Given the description of an element on the screen output the (x, y) to click on. 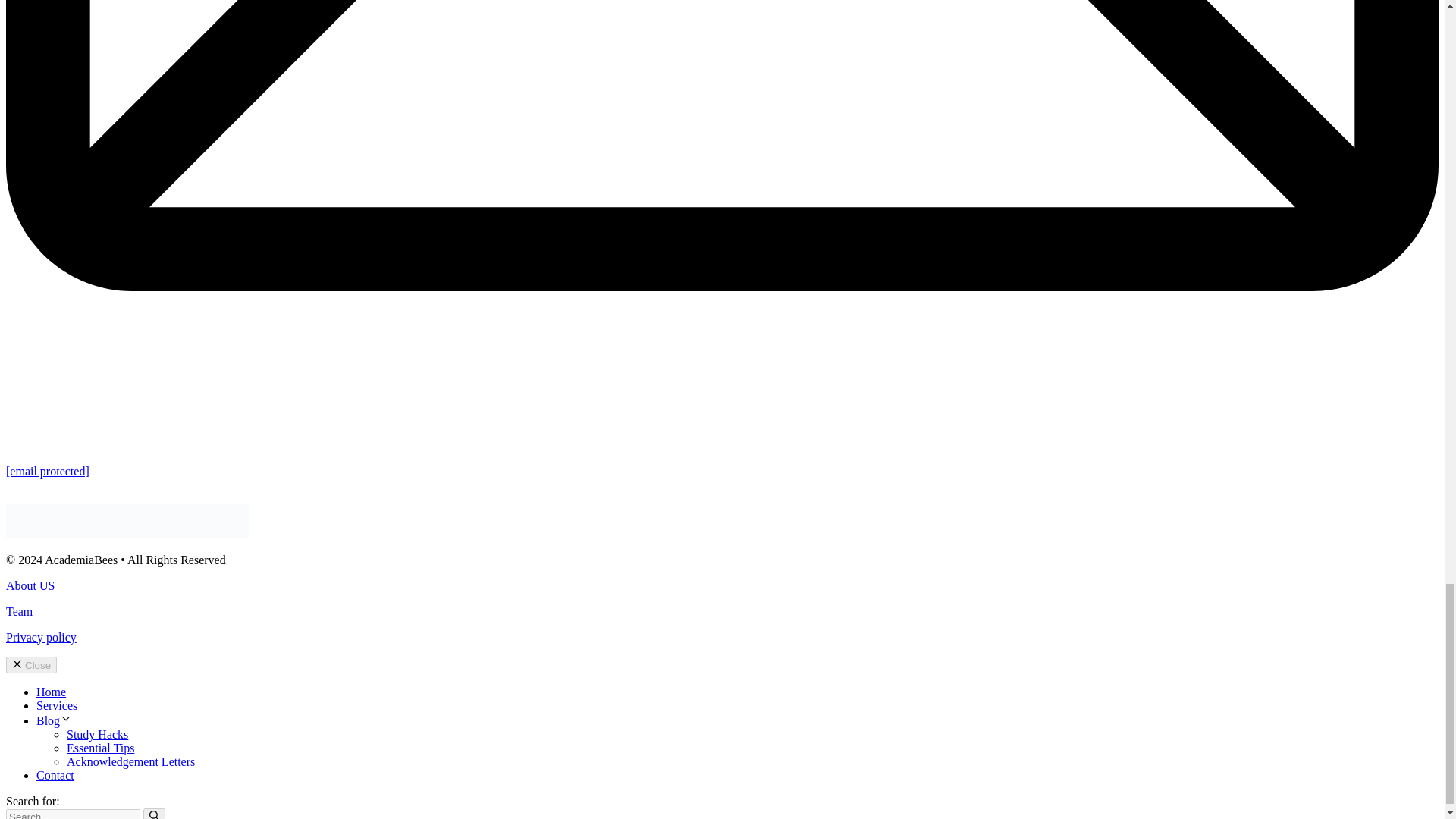
Services (56, 705)
Contact (55, 775)
Blog (53, 720)
Study Hacks (97, 734)
Privacy policy (41, 636)
Acknowledgement Letters (130, 761)
About US (30, 585)
Team (18, 611)
Home (50, 691)
Close (30, 664)
Essential Tips (99, 748)
